Given the description of an element on the screen output the (x, y) to click on. 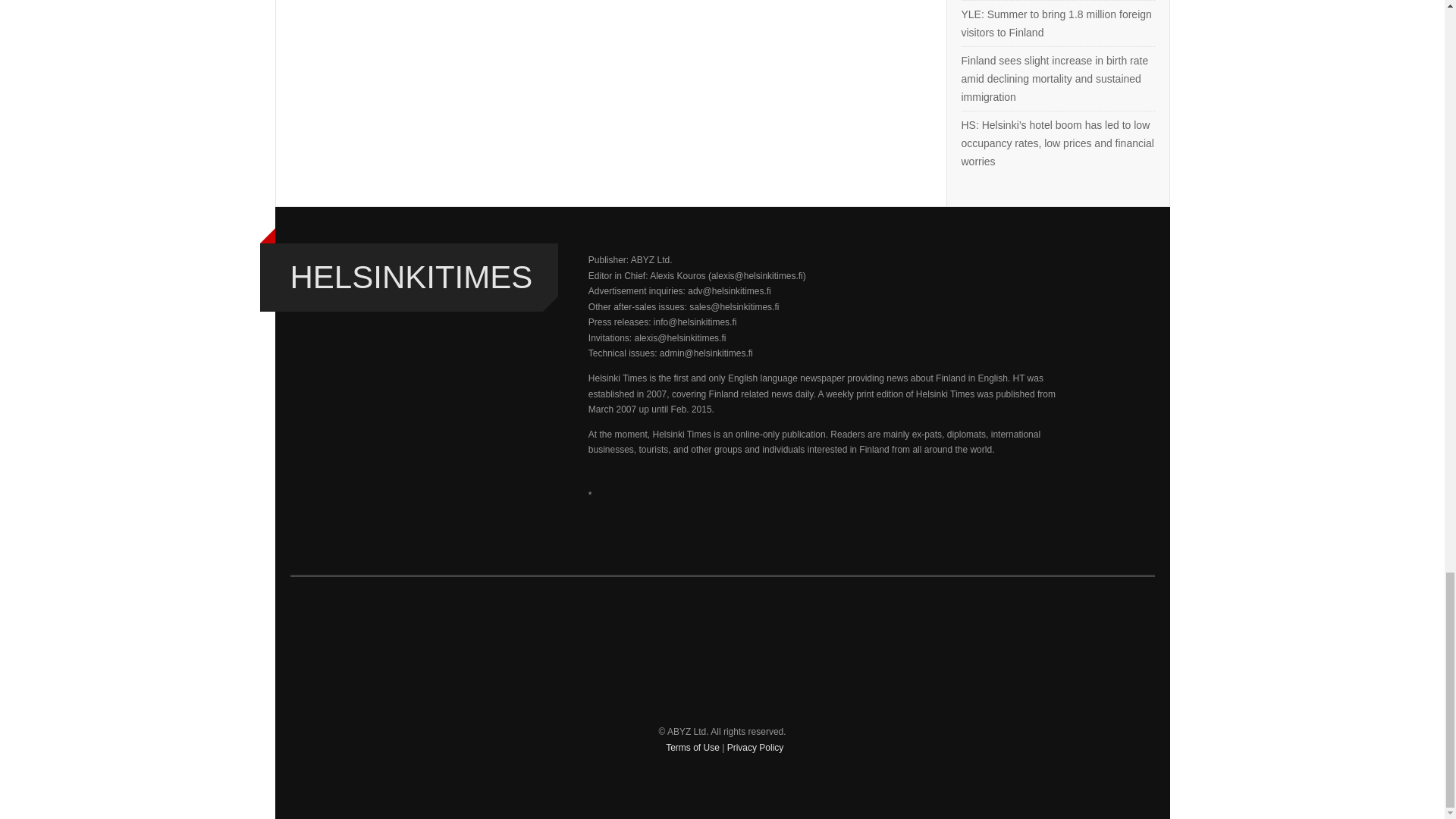
HelsinkiTimes (410, 277)
